Given the description of an element on the screen output the (x, y) to click on. 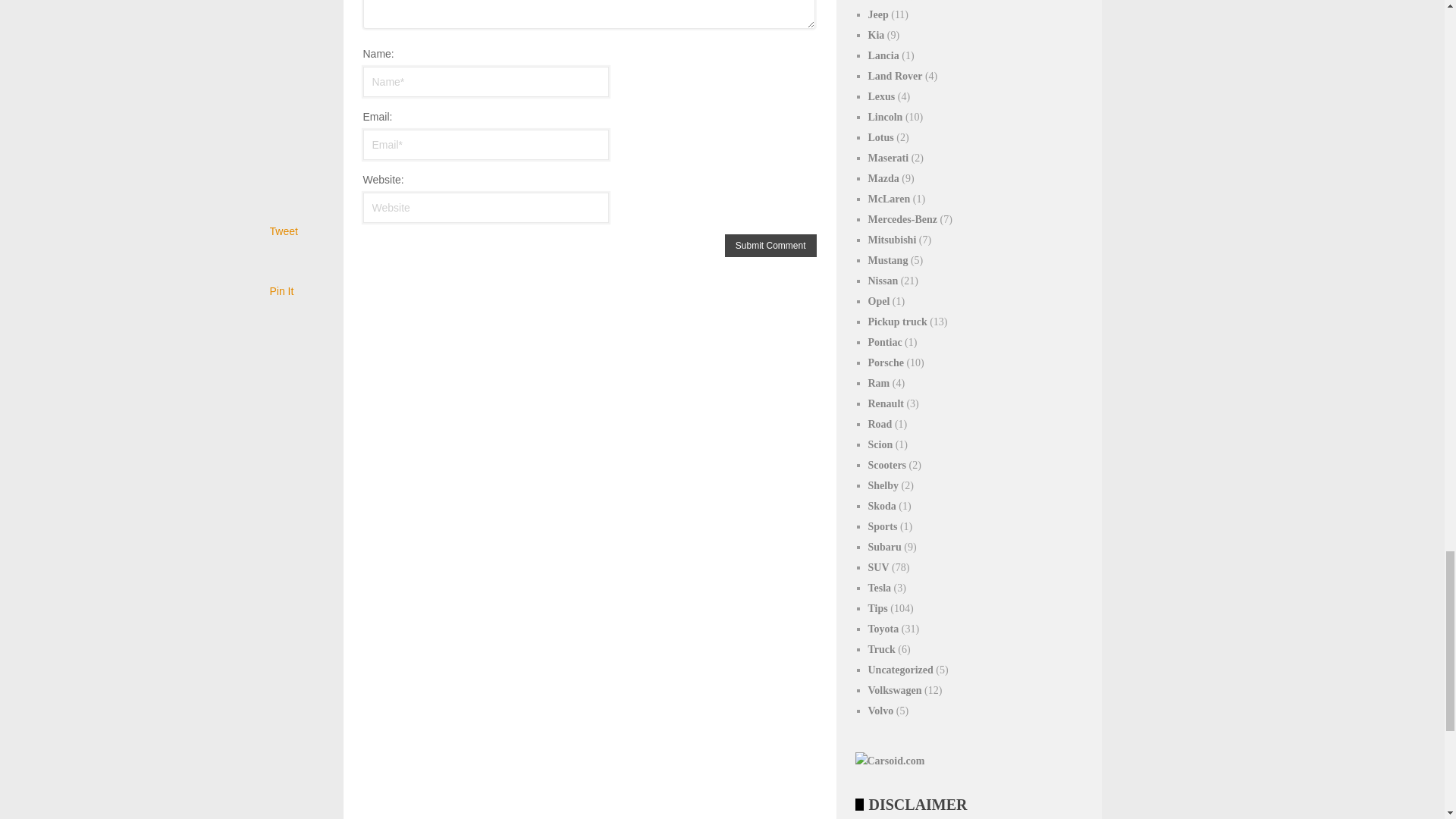
Submit Comment (770, 245)
